Given the description of an element on the screen output the (x, y) to click on. 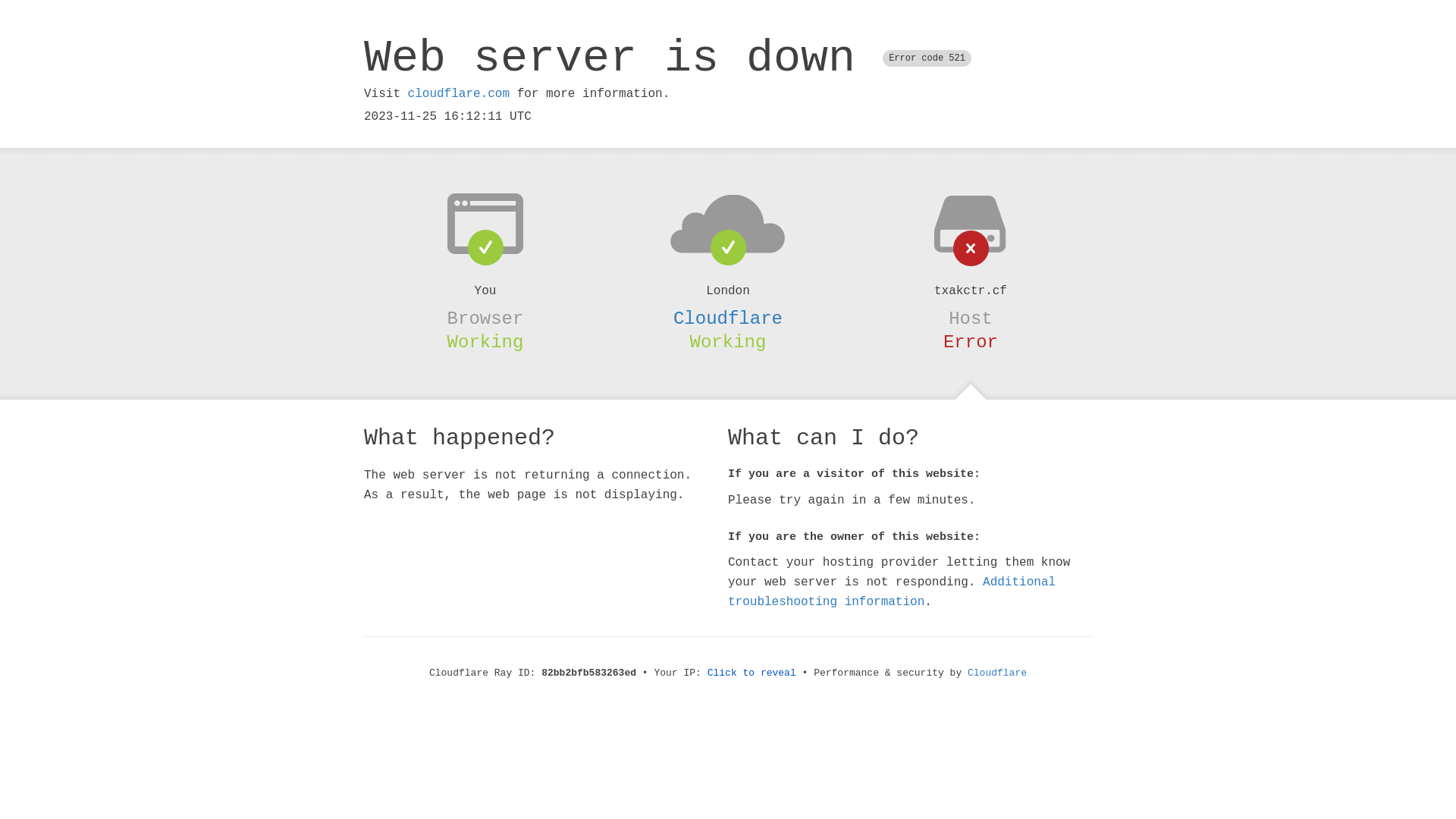
Additional troubleshooting information Element type: text (891, 591)
Click to reveal Element type: text (751, 672)
Cloudflare Element type: text (996, 672)
cloudflare.com Element type: text (458, 93)
Cloudflare Element type: text (727, 318)
